Given the description of an element on the screen output the (x, y) to click on. 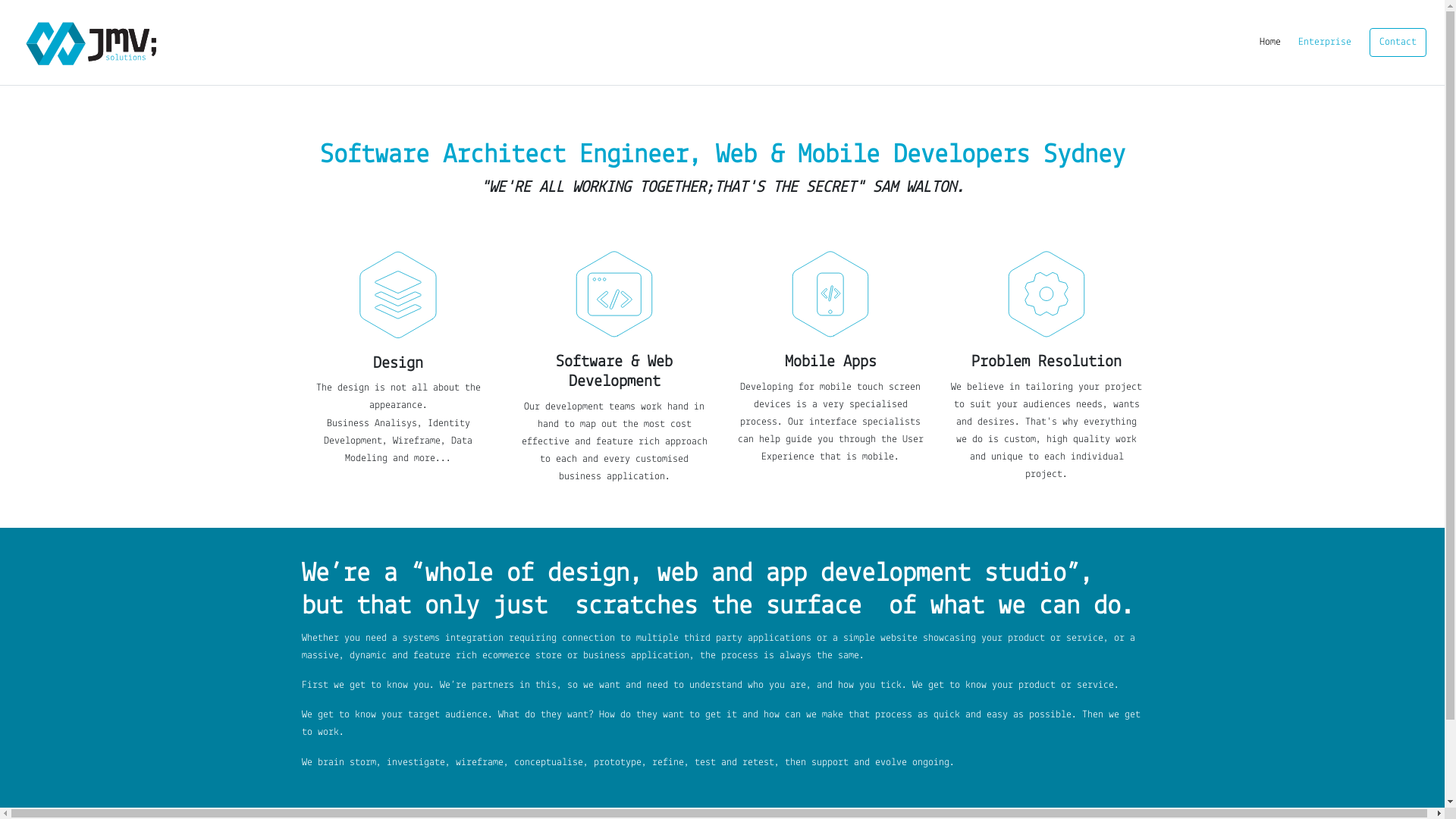
Enterprise Element type: text (1324, 41)
Home Element type: text (1269, 41)
Contact Element type: text (1397, 42)
